Given the description of an element on the screen output the (x, y) to click on. 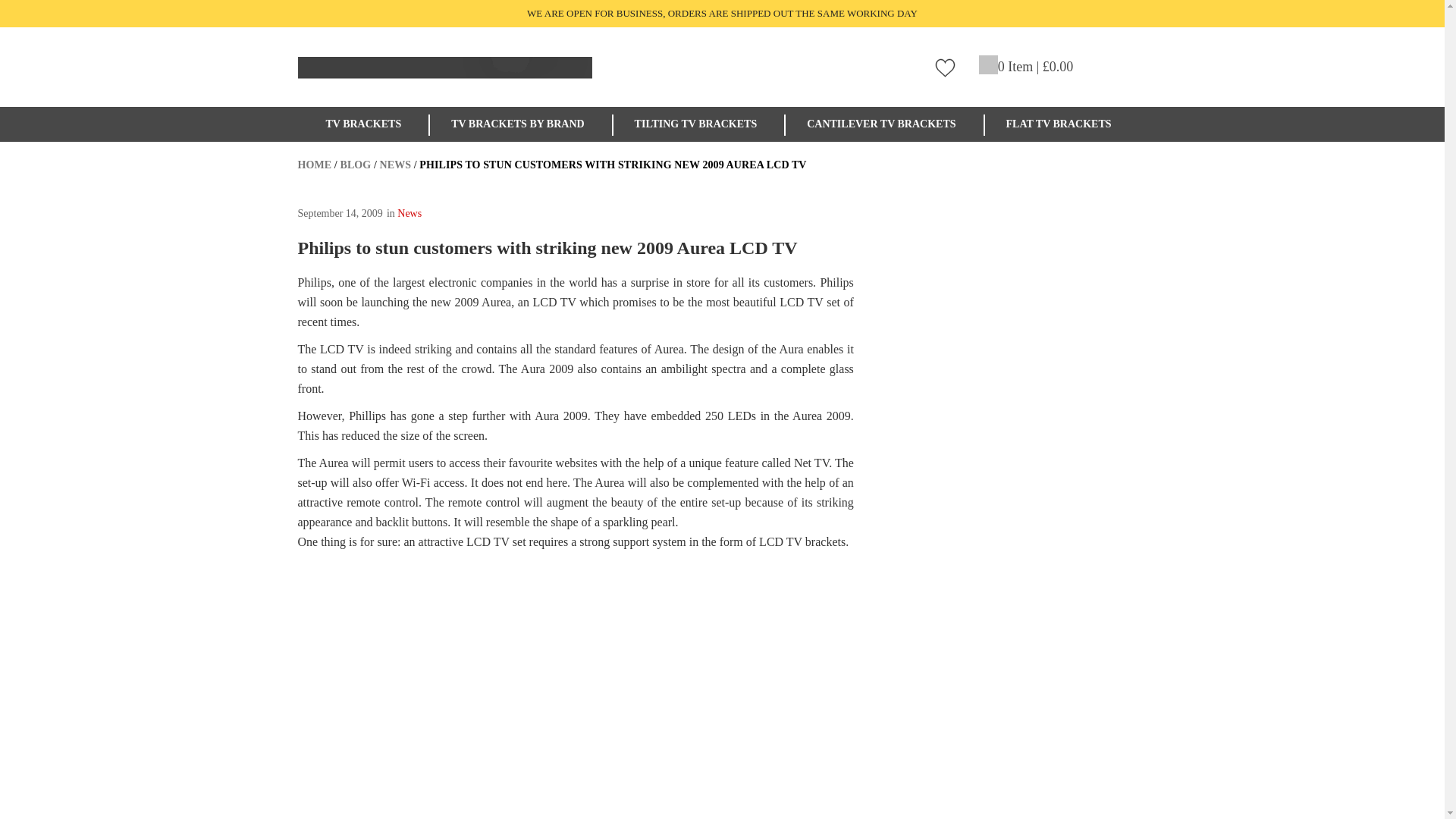
TV BRACKETS BY BRAND (520, 124)
CANTILEVER TV BRACKETS (885, 124)
TILTING TV BRACKETS (699, 124)
FLAT TV BRACKETS (1062, 124)
TV BRACKETS (366, 124)
